Given the description of an element on the screen output the (x, y) to click on. 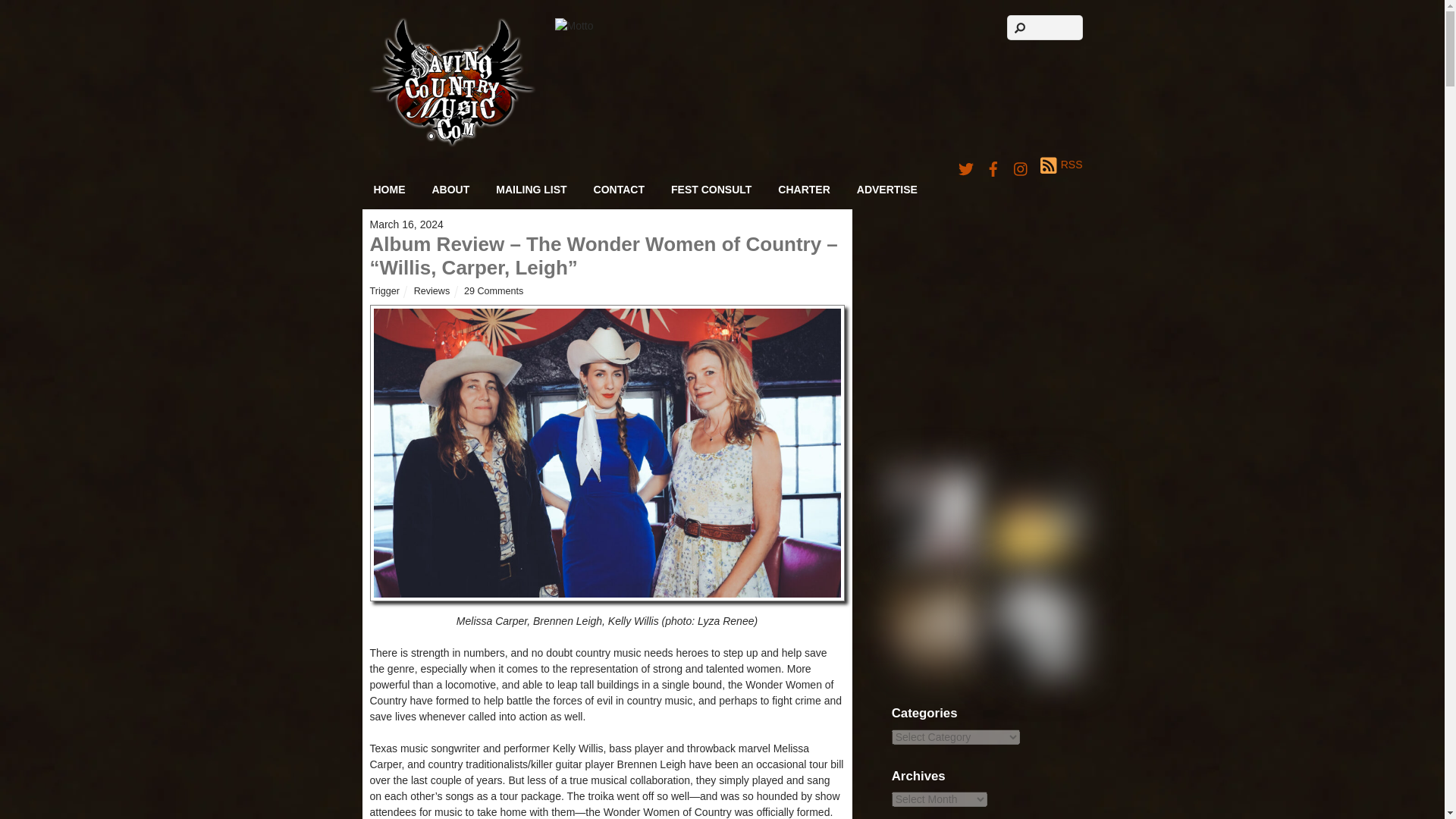
Reviews (431, 290)
FEST CONSULT (710, 190)
CONTACT (619, 190)
ABOUT (450, 190)
RSS (1061, 165)
Saving Country Music (451, 142)
ADVERTISE (886, 190)
Trigger (383, 290)
HOME (389, 190)
CHARTER (804, 190)
